Given the description of an element on the screen output the (x, y) to click on. 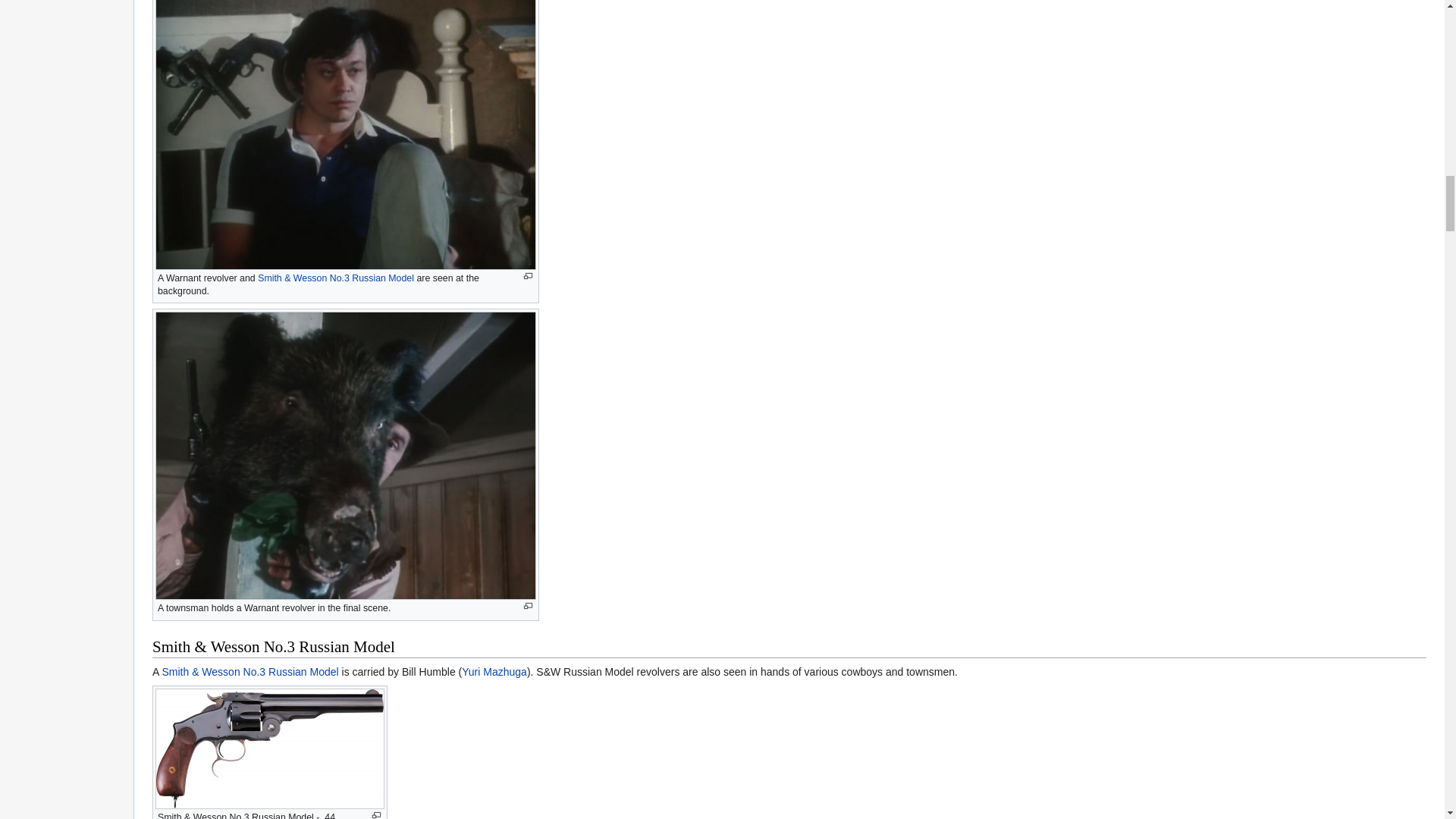
Enlarge (528, 275)
